Given the description of an element on the screen output the (x, y) to click on. 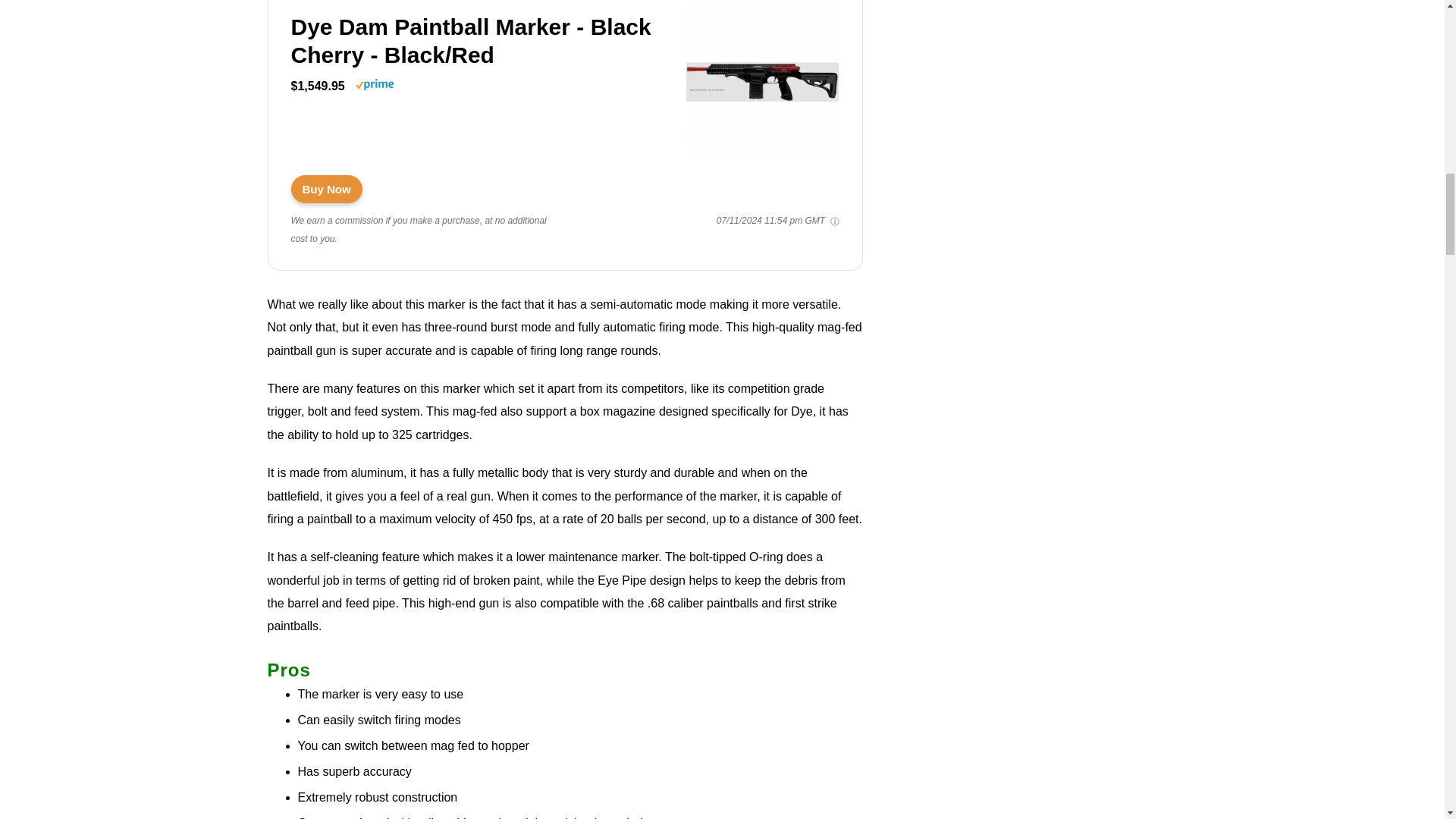
Buy Now (326, 189)
